Given the description of an element on the screen output the (x, y) to click on. 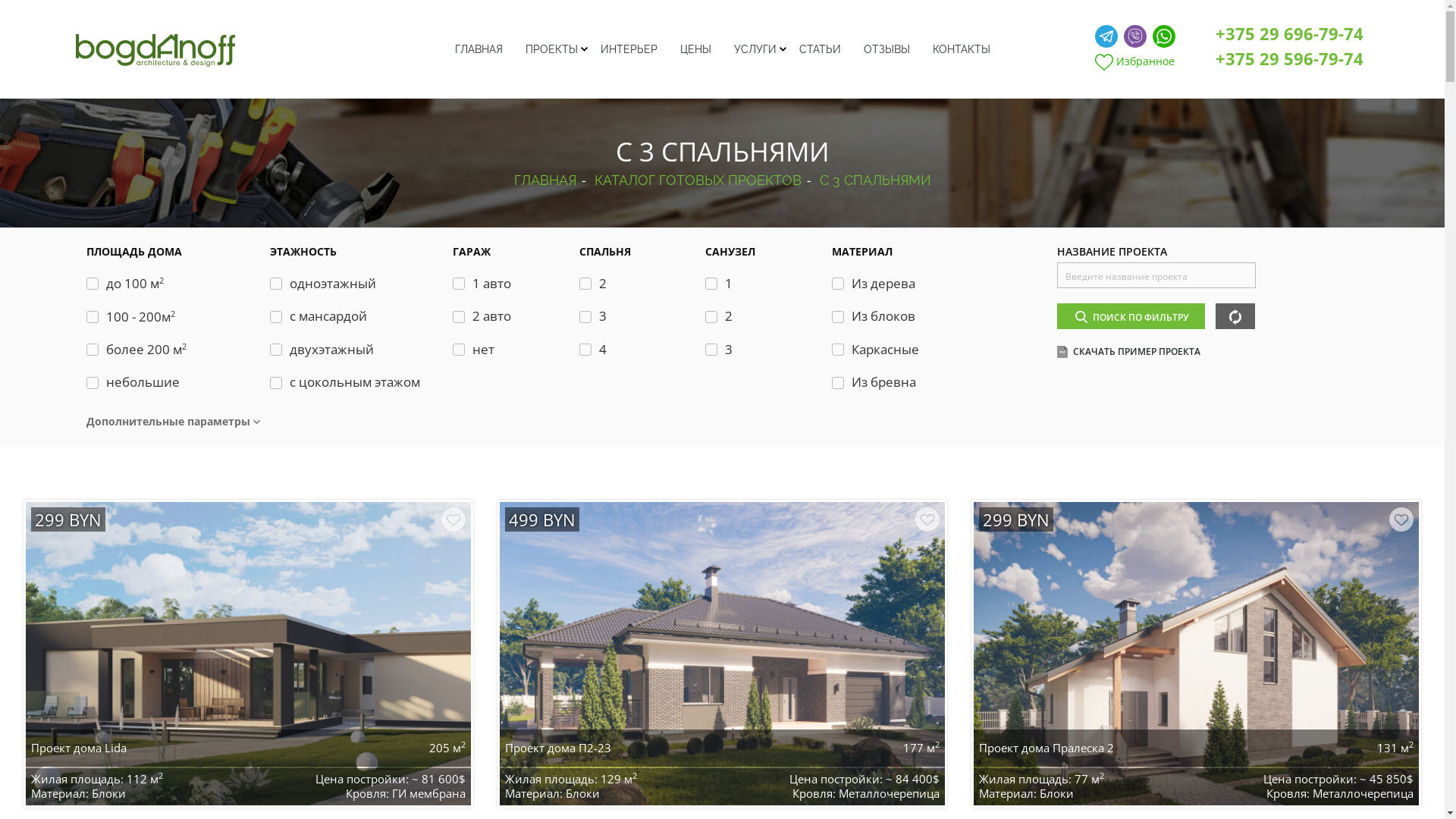
+375 29 596-79-74 Element type: text (1289, 58)
+375 29 696-79-74 Element type: text (1289, 32)
